Given the description of an element on the screen output the (x, y) to click on. 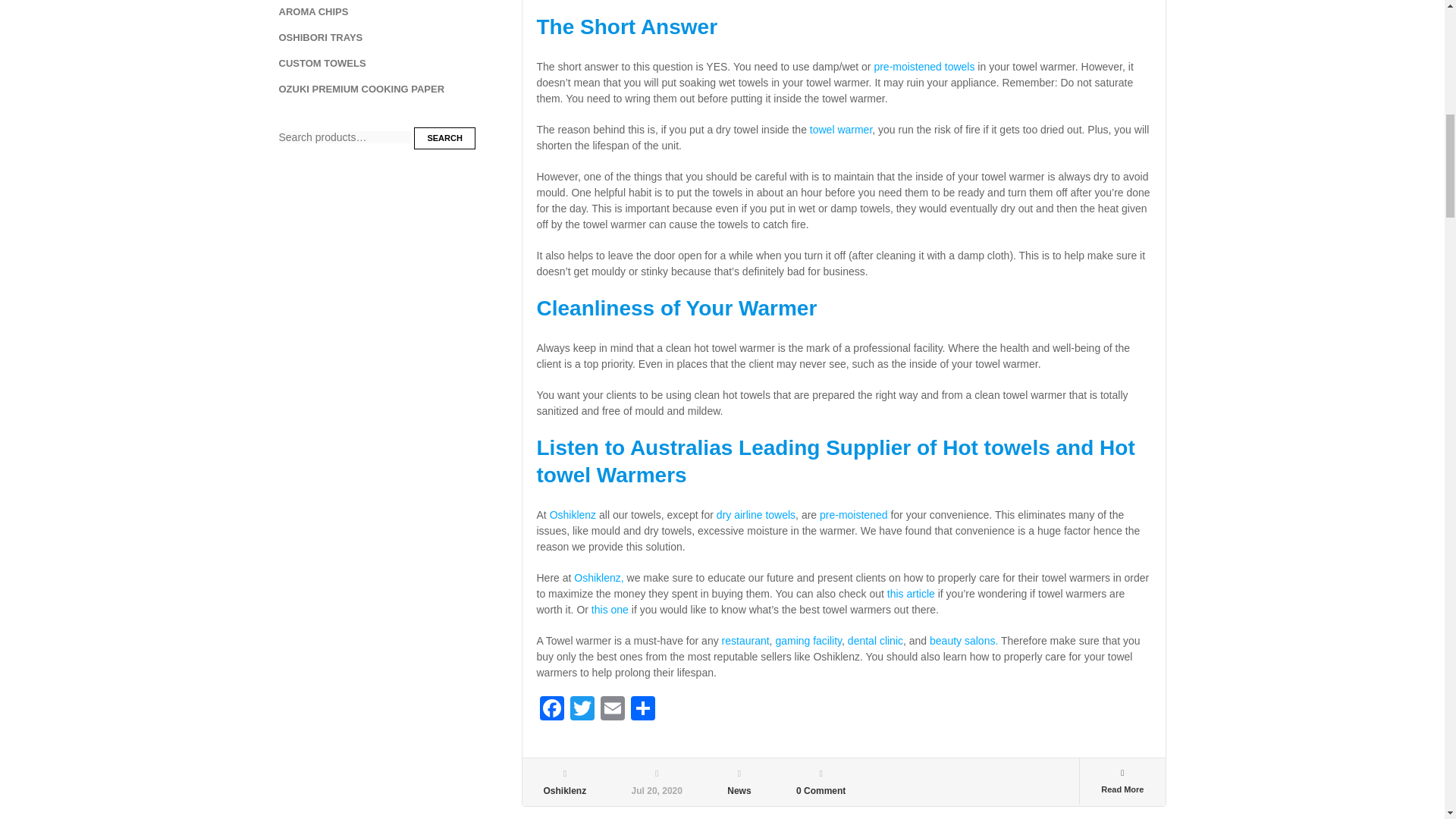
Twitter (581, 709)
towel warmer (840, 129)
Facebook (552, 709)
restaurant (746, 640)
Oshiklenz (572, 514)
Twitter (581, 709)
Email (611, 709)
beauty salons. (963, 640)
pre-moistened (853, 514)
gaming facility (807, 640)
